Given the description of an element on the screen output the (x, y) to click on. 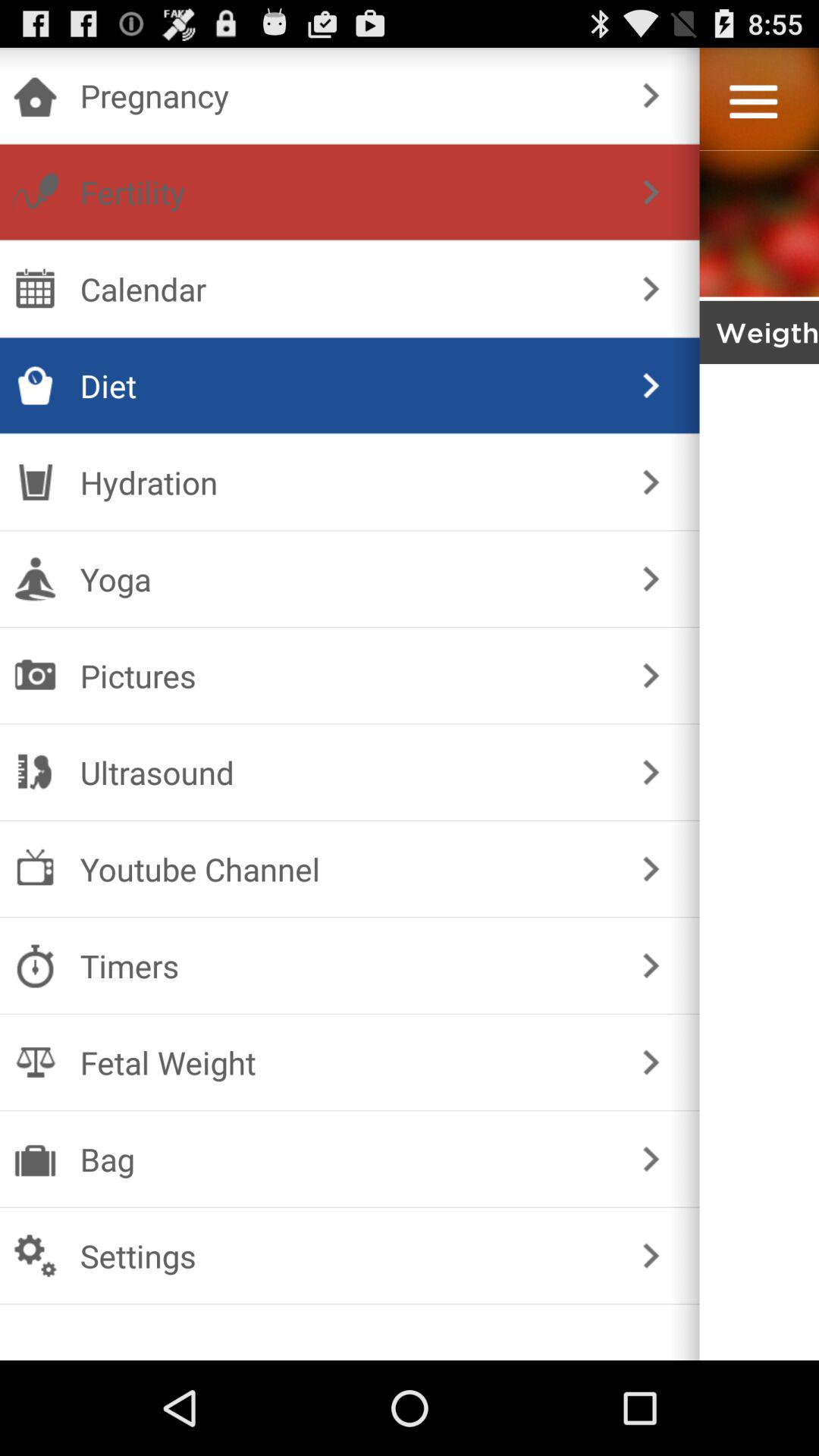
turn off the item below the bag checkbox (346, 1255)
